Given the description of an element on the screen output the (x, y) to click on. 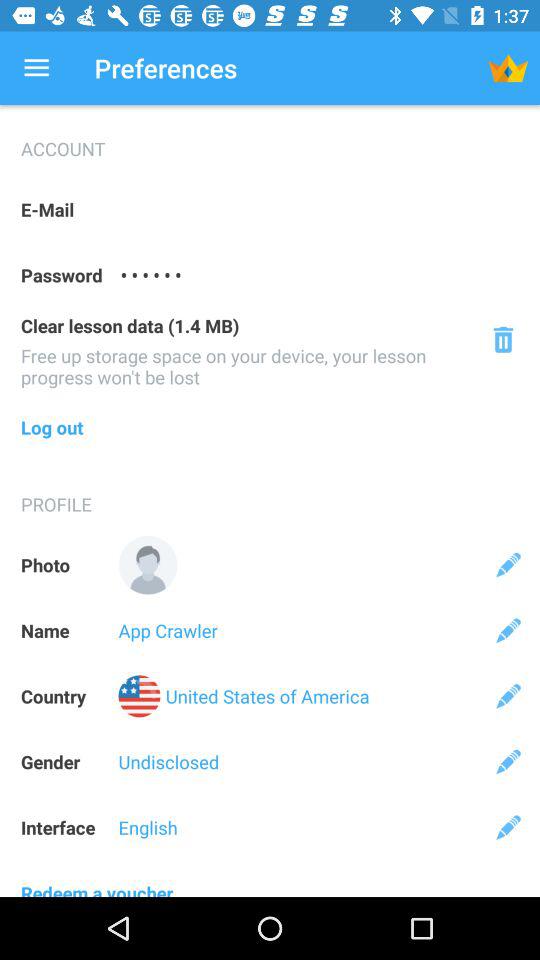
send to trash (502, 339)
